Given the description of an element on the screen output the (x, y) to click on. 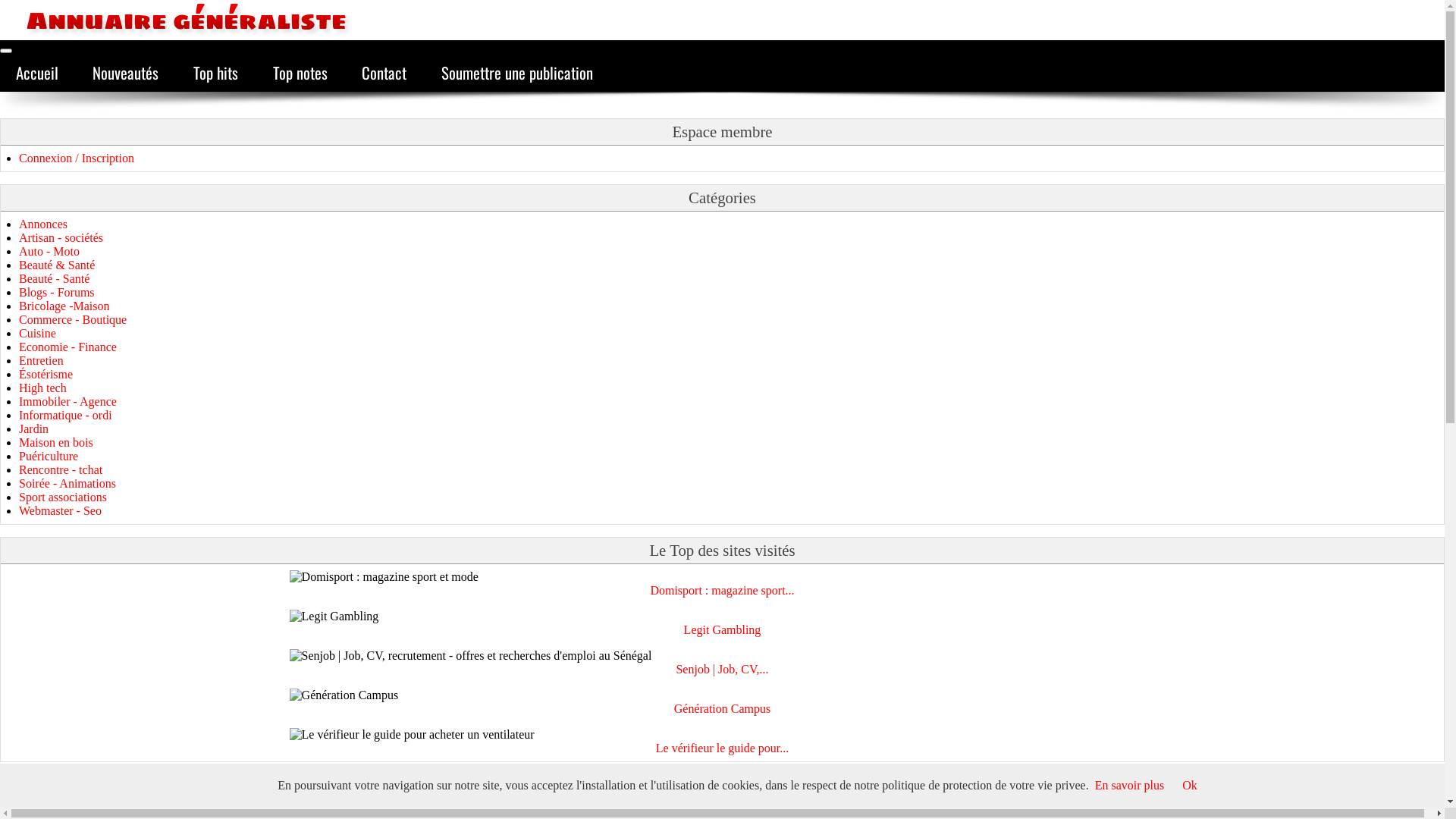
Soumettre une publication Element type: text (516, 72)
Legit Gambling Element type: text (722, 630)
Accueil Element type: text (37, 72)
Toggle navigation Element type: text (6, 50)
Immobiler - Agence Element type: text (67, 401)
Economie - Finance Element type: text (67, 346)
Domisport : magazine sport... Element type: text (721, 590)
Top notes Element type: text (300, 72)
Auto - Moto Element type: text (48, 250)
Webmaster - Seo Element type: text (59, 510)
High tech Element type: text (42, 387)
Contact Element type: text (383, 72)
Blogs - Forums Element type: text (56, 291)
Senjob | Job, CV,... Element type: text (721, 669)
Commerce - Boutique Element type: text (72, 319)
Bricolage -Maison Element type: text (63, 305)
Top hits Element type: text (215, 72)
En savoir plus Element type: text (1129, 784)
Rencontre - tchat Element type: text (60, 469)
Annonces Element type: text (42, 223)
Entretien Element type: text (40, 360)
Informatique - ordi Element type: text (65, 414)
Connexion / Inscription Element type: text (76, 157)
Sport associations Element type: text (62, 496)
Cuisine Element type: text (37, 332)
Ok Element type: text (1189, 784)
Maison en bois Element type: text (55, 442)
Jardin Element type: text (33, 428)
